Given the description of an element on the screen output the (x, y) to click on. 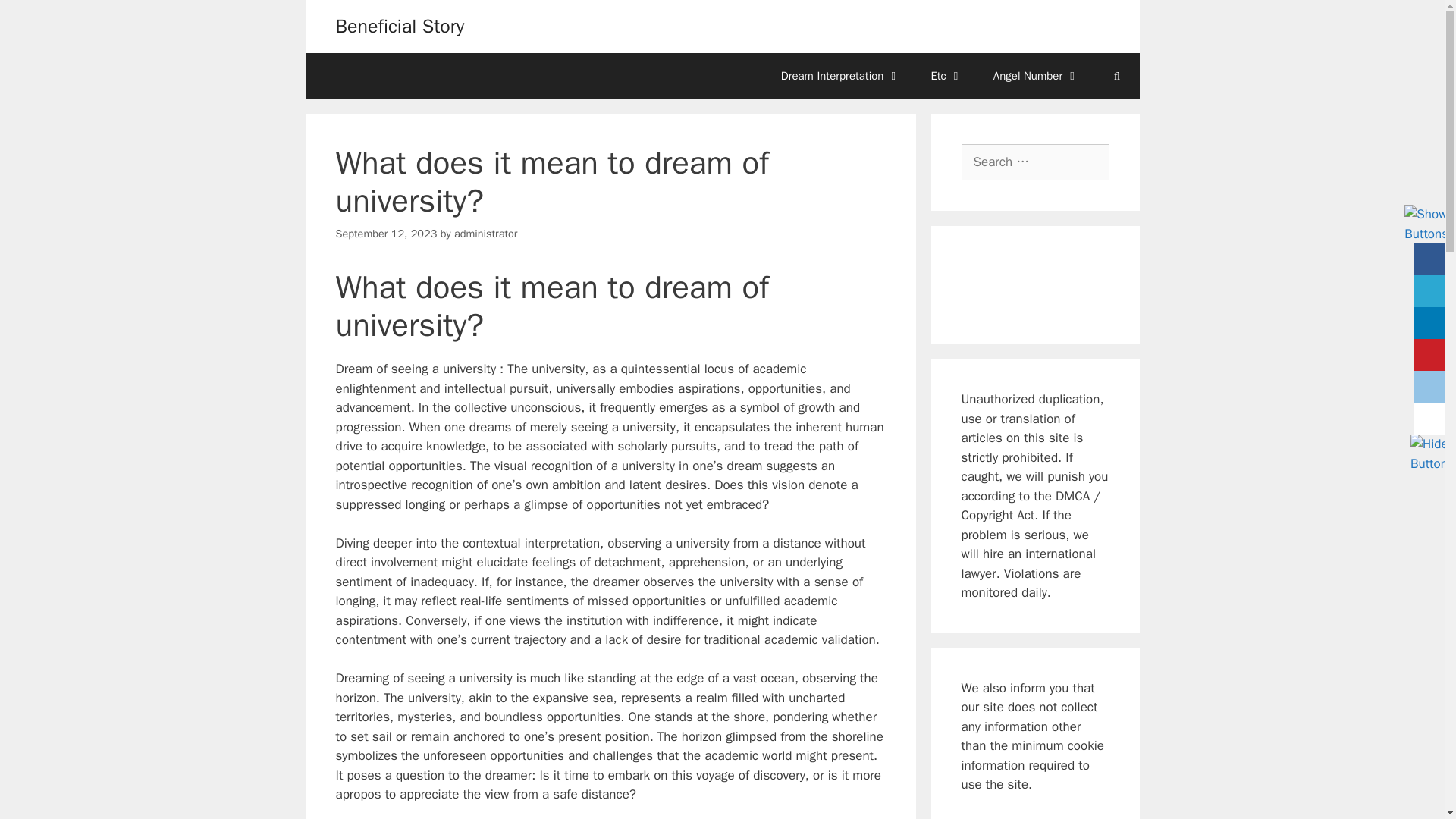
Dream Interpretation (840, 75)
Etc (945, 75)
Beneficial Story (399, 25)
administrator (486, 233)
Angel Number (1036, 75)
View all posts by administrator (486, 233)
